Given the description of an element on the screen output the (x, y) to click on. 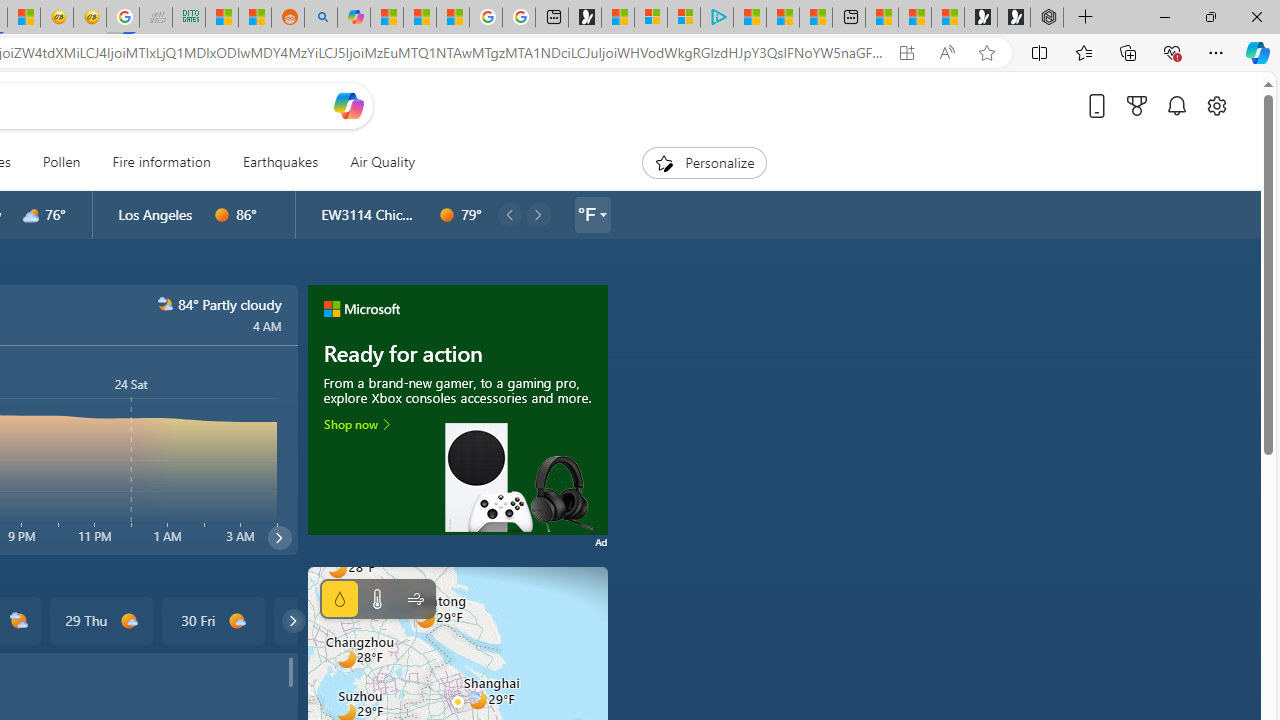
common/carouselChevron (293, 620)
d1000 (235, 621)
common/carouselChevron (293, 620)
